Given the description of an element on the screen output the (x, y) to click on. 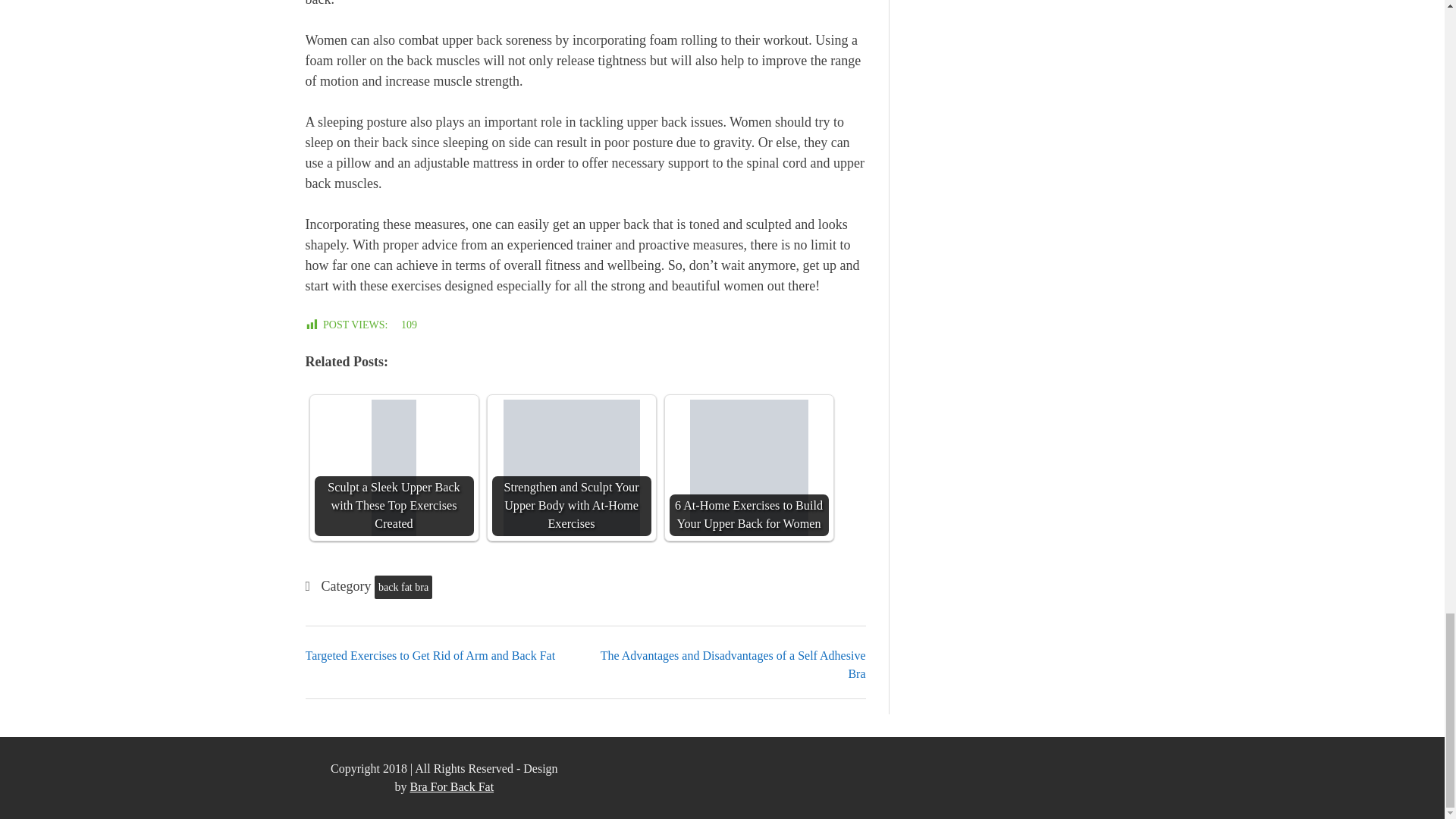
The Advantages and Disadvantages of a Self Adhesive Bra (732, 664)
back fat bra (403, 586)
Sculpt a Sleek Upper Back with These Top Exercises Created (393, 467)
Strengthen and Sculpt Your Upper Body with At-Home Exercises (571, 467)
6 At-Home Exercises to Build Your Upper Back for Women (748, 467)
Targeted Exercises to Get Rid of Arm and Back Fat (429, 655)
Strengthen and Sculpt Your Upper Body with At-Home Exercises (571, 467)
